Given the description of an element on the screen output the (x, y) to click on. 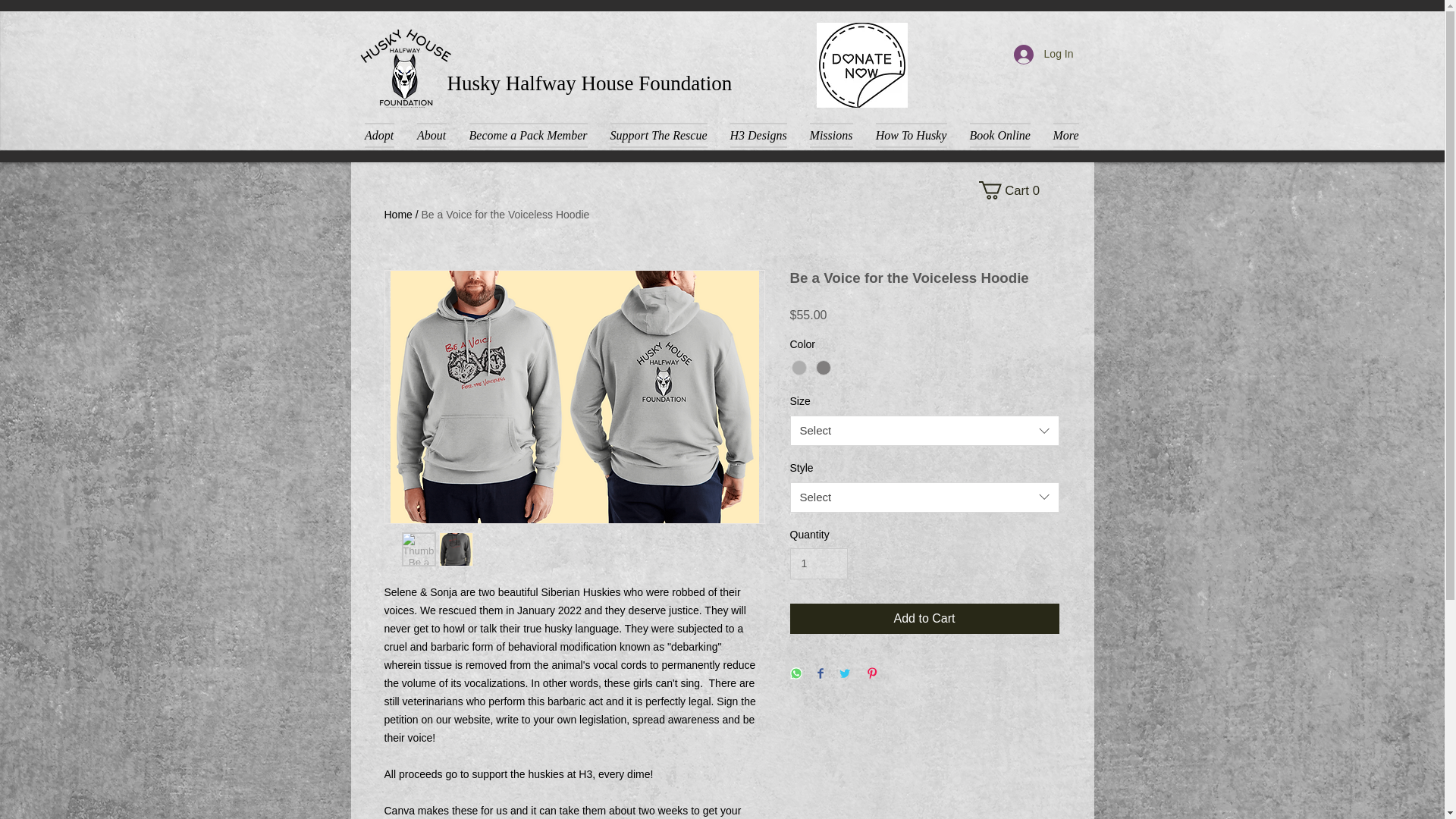
Select (924, 430)
Support The Rescue (658, 135)
Be a Voice for the Voiceless Hoodie (505, 214)
H3 Designs (758, 135)
1 (818, 563)
Log In (1043, 54)
Book Online (1000, 135)
Become a Pack Member (528, 135)
About (430, 135)
Select (924, 497)
Adopt (384, 135)
Add to Cart (924, 618)
Home (398, 214)
How To Husky (911, 135)
